Given the description of an element on the screen output the (x, y) to click on. 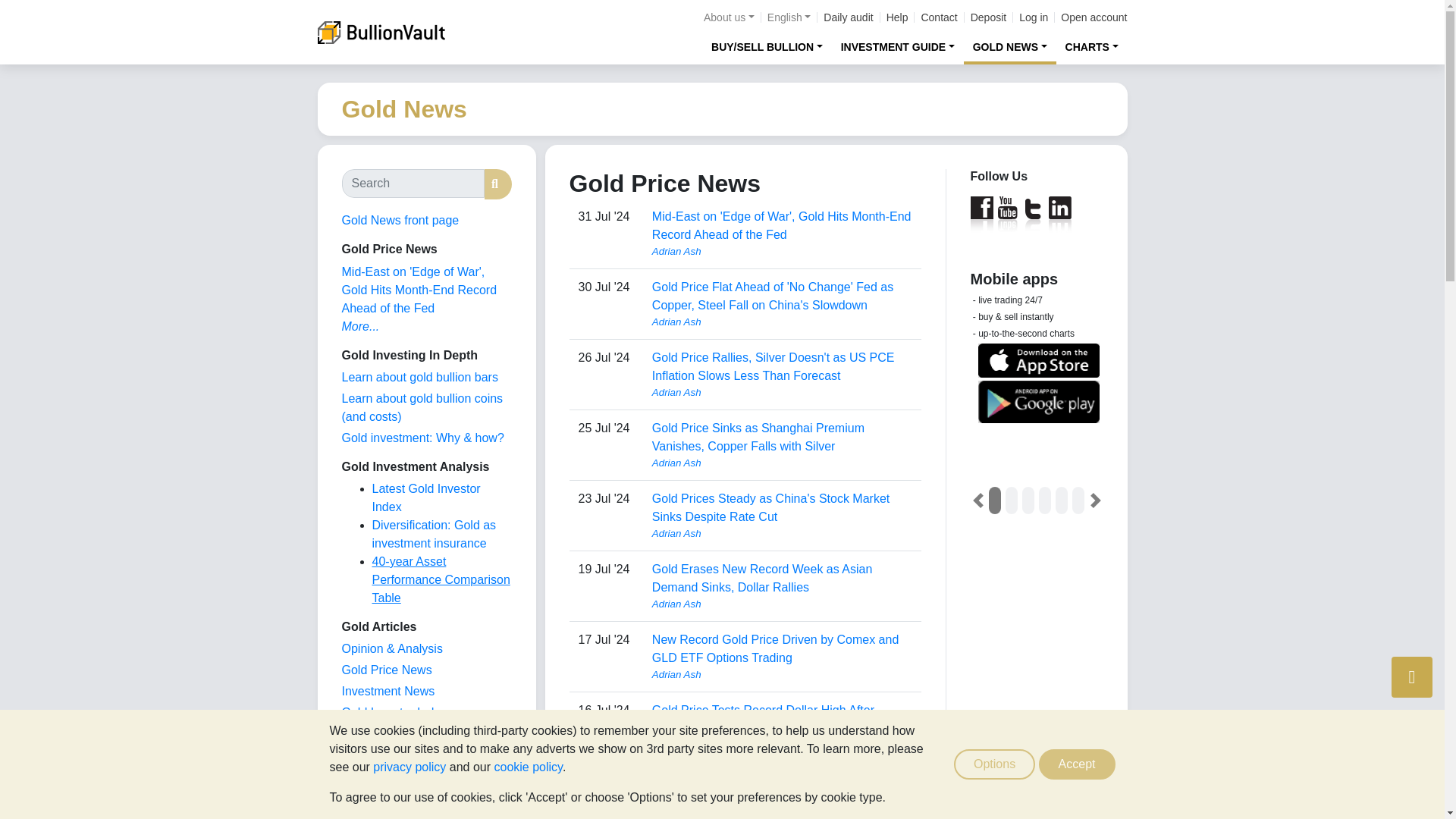
Contact (938, 17)
Daily audit (848, 17)
Help (897, 17)
English (788, 17)
Books about Gold Reviewed (372, 797)
Open account (1093, 17)
Enter the terms you wish to search for. (411, 183)
View user profile. (782, 322)
Market Fundamentals (399, 754)
Gold Investor Index (393, 712)
